Given the description of an element on the screen output the (x, y) to click on. 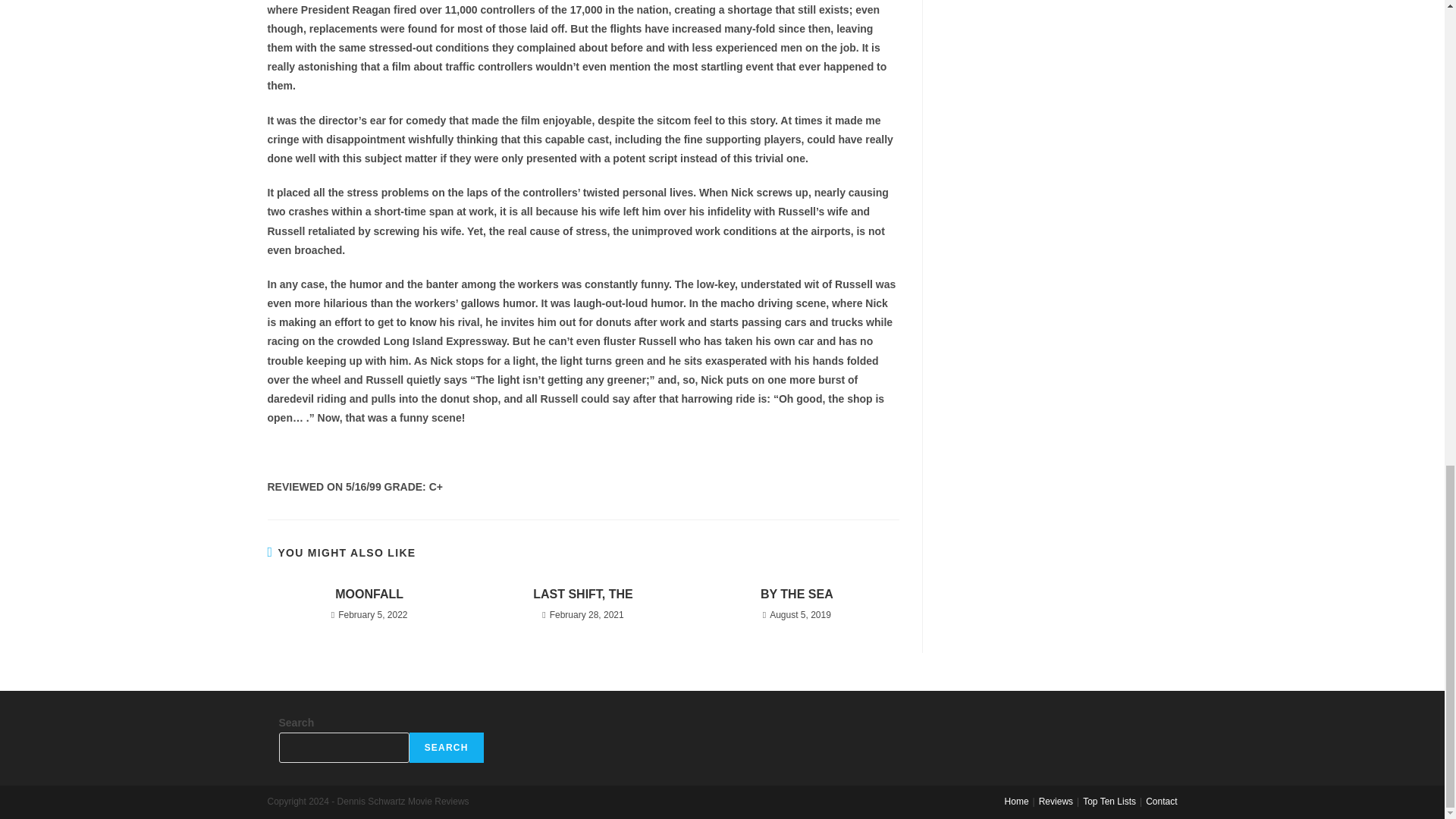
Home (1016, 801)
Contact (1160, 801)
MOONFALL (368, 594)
SEARCH (446, 747)
Reviews (1056, 801)
LAST SHIFT, THE (582, 594)
BY THE SEA (796, 594)
Top Ten Lists (1109, 801)
